Given the description of an element on the screen output the (x, y) to click on. 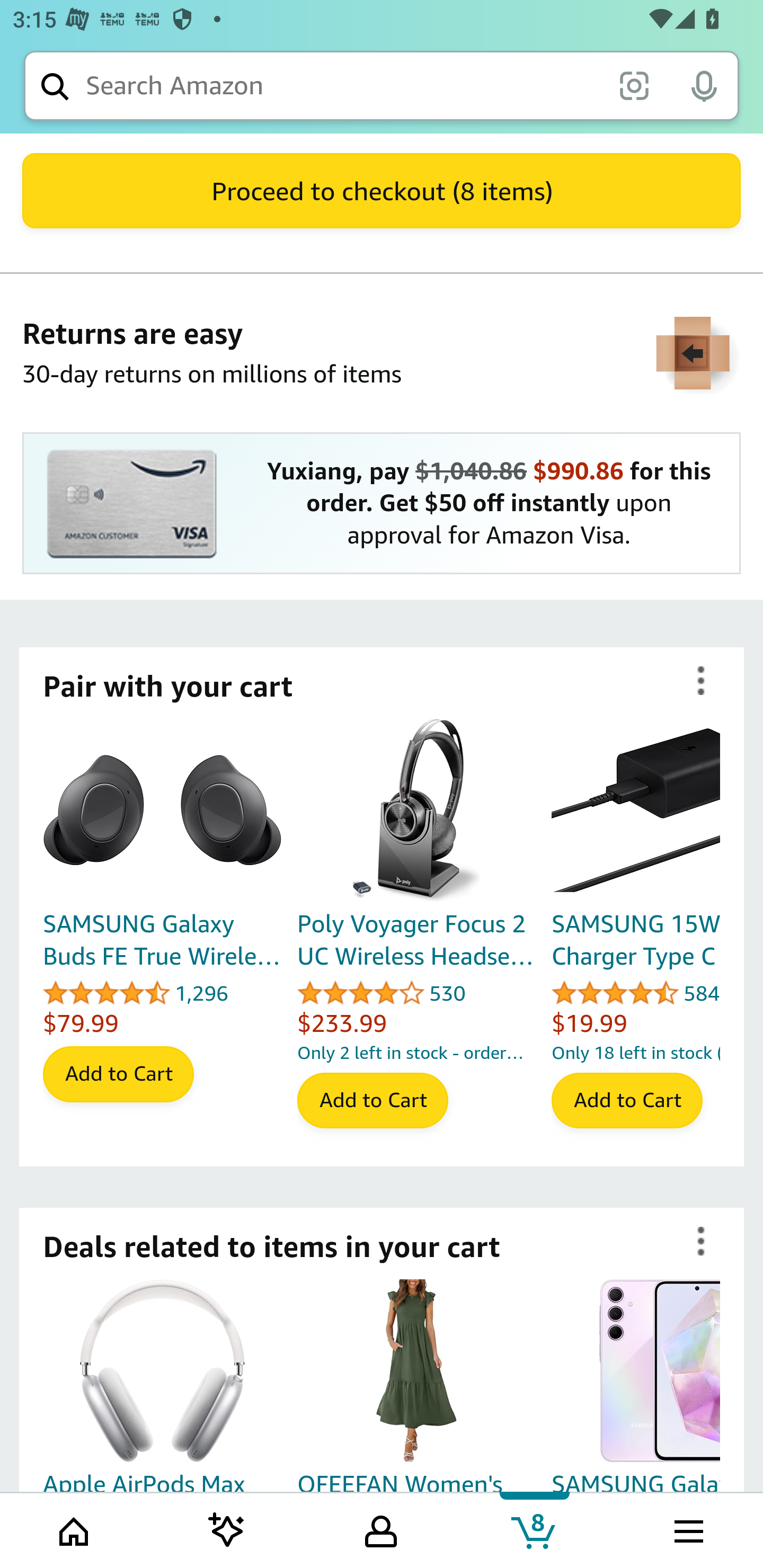
scan it (633, 85)
Proceed to checkout (8 items) (381, 190)
Not interested in specific items (700, 681)
Add to Cart (118, 1073)
Add to Cart (372, 1101)
Add to Cart (627, 1101)
Not interested in specific items (700, 1241)
Home Tab 1 of 5 (75, 1529)
Inspire feed Tab 2 of 5 (227, 1529)
Your Amazon.com Tab 3 of 5 (380, 1529)
Cart 8 items Tab 4 of 5 8 (534, 1529)
Browse menu Tab 5 of 5 (687, 1529)
